Given the description of an element on the screen output the (x, y) to click on. 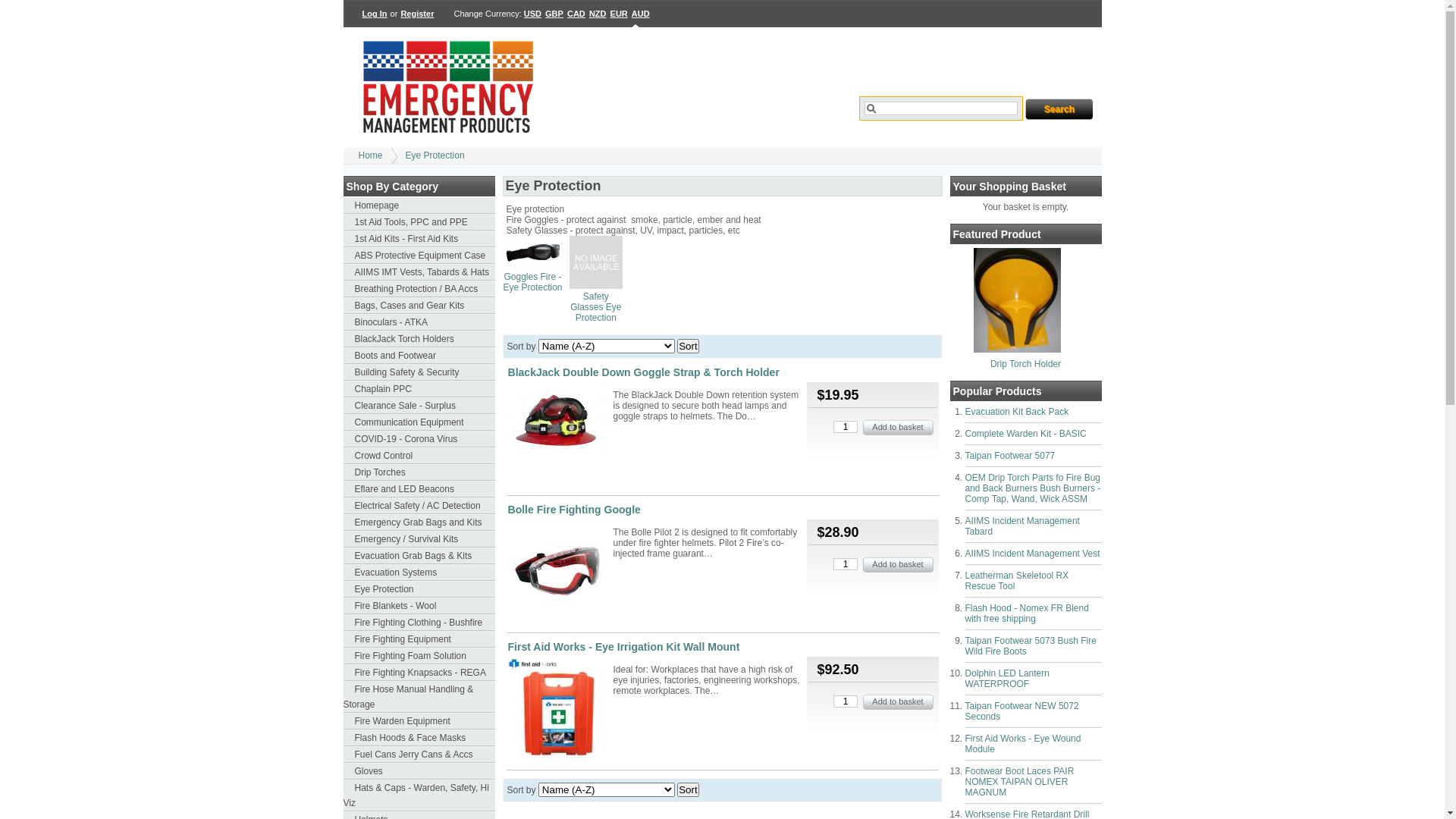
Log In Element type: text (375, 13)
Leatherman Skeletool RX Rescue Tool Element type: text (1016, 580)
Search our store Element type: hover (940, 108)
Footwear Boot Laces PAIR NOMEX TAIPAN OLIVER MAGNUM Element type: text (1018, 781)
Fire Hose Manual Handling & Storage Element type: text (418, 696)
Search Element type: text (1059, 108)
Eye Protection Element type: text (418, 588)
Fire Fighting Equipment Element type: text (418, 638)
Taipan Footwear NEW 5072 Seconds Element type: text (1021, 710)
Goggles Fire - Eye Protection Element type: text (531, 281)
Sort Element type: text (687, 789)
Drip Torch Holder Element type: hover (1016, 349)
ABS Protective Equipment Case Element type: text (418, 255)
Register Element type: text (416, 13)
Fire Warden Equipment Element type: text (418, 720)
Crowd Control Element type: text (418, 455)
Breathing Protection / BA Accs Element type: text (418, 288)
Fire Blankets - Wool Element type: text (418, 605)
BlackJack Double Down Goggle Strap & Torch Holder Element type: hover (558, 418)
NZD Element type: text (597, 13)
1st Aid Tools, PPC and PPE Element type: text (418, 221)
First Aid Works - Eye Irrigation Kit Wall Mount Element type: hover (558, 709)
CAD Element type: text (576, 13)
Flash Hoods & Face Masks Element type: text (418, 737)
BlackJack Double Down Goggle Strap & Torch Holder Element type: text (643, 372)
Advanced Search Element type: text (896, 136)
Evacuation Kit Back Pack Element type: text (1016, 411)
Safety Glasses Eye Protection Element type: text (595, 307)
Flash Hood - Nomex FR Blend with free shipping Element type: text (1026, 613)
Bolle Fire Fighting Google Element type: hover (558, 572)
COVID-19 - Corona Virus Element type: text (418, 438)
Home Element type: text (369, 155)
Emergency Grab Bags and Kits Element type: text (418, 522)
Chaplain PPC Element type: text (418, 388)
AIIMS Incident Management Vest Element type: text (1031, 553)
Bags, Cases and Gear Kits Element type: text (418, 305)
USD Element type: text (533, 13)
Add to basket Element type: text (897, 564)
Homepage Element type: text (418, 205)
Dolphin LED Lantern WATERPROOF Element type: text (1006, 678)
Evacuation Grab Bags & Kits Element type: text (418, 555)
Fuel Cans Jerry Cans & Accs Element type: text (418, 754)
Eflare and LED Beacons Element type: text (418, 488)
Evacuation Systems Element type: text (418, 572)
Electrical Safety / AC Detection Element type: text (418, 505)
Boots and Footwear Element type: text (418, 355)
AUD Element type: text (640, 13)
Drip Torches Element type: text (418, 472)
Bolle Fire Fighting Google Element type: text (574, 509)
BlackJack Torch Holders Element type: text (418, 338)
Building Safety & Security Element type: text (418, 372)
Clearance Sale - Surplus Element type: text (418, 405)
Drip Torch Holder Element type: text (1025, 363)
Emergency / Survival Kits Element type: text (418, 538)
Goggles Fire - Eye Protection Element type: hover (532, 265)
GBP Element type: text (554, 13)
Add to basket Element type: text (897, 701)
Hats & Caps - Warden, Safety, Hi Viz Element type: text (418, 795)
Fire Fighting Clothing - Bushfire Element type: text (418, 622)
Gloves Element type: text (418, 770)
Complete Warden Kit - BASIC Element type: text (1024, 433)
First Aid Works - Eye Irrigation Kit Wall Mount Element type: text (624, 646)
Sort Element type: text (687, 345)
Taipan Footwear 5077 Element type: text (1009, 455)
Fire Fighting Foam Solution Element type: text (418, 655)
Taipan Footwear 5073 Bush Fire Wild Fire Boots Element type: text (1029, 645)
Eye Protection Element type: text (434, 155)
Communication Equipment Element type: text (418, 422)
Fire Fighting Knapsacks - REGA Element type: text (418, 672)
AIIMS Incident Management Tabard Element type: text (1021, 525)
1st Aid Kits - First Aid Kits Element type: text (418, 238)
EUR Element type: text (618, 13)
Binoculars - ATKA Element type: text (418, 321)
First Aid Works - Eye Wound Module Element type: text (1022, 743)
Safety Glasses Eye Protection Element type: hover (595, 285)
AIIMS IMT Vests, Tabards & Hats Element type: text (418, 271)
Add to basket Element type: text (897, 427)
